Given the description of an element on the screen output the (x, y) to click on. 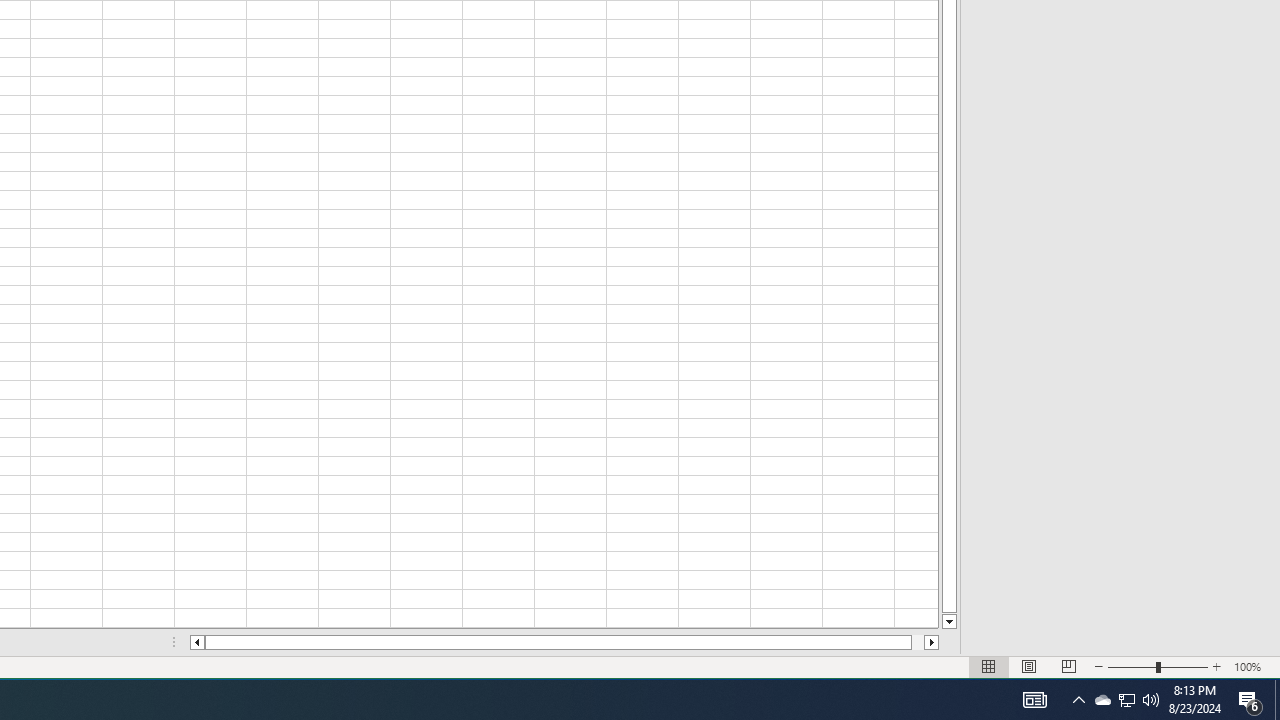
Q2790: 100% (1151, 699)
Notification Chevron (1078, 699)
AutomationID: 4105 (1034, 699)
Show desktop (1277, 699)
Action Center, 6 new notifications (1126, 699)
